Given the description of an element on the screen output the (x, y) to click on. 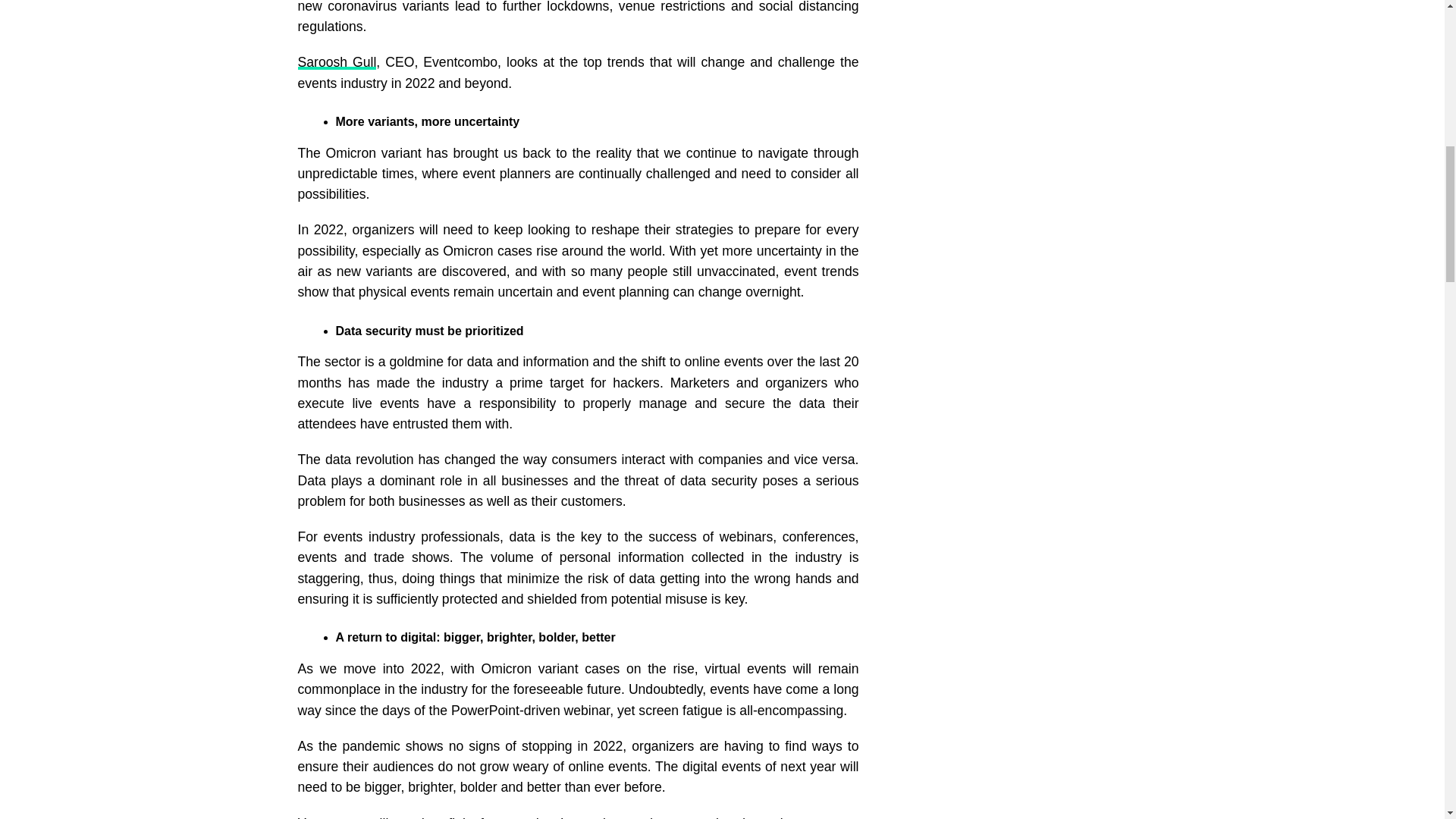
Saroosh Gull (336, 61)
